Given the description of an element on the screen output the (x, y) to click on. 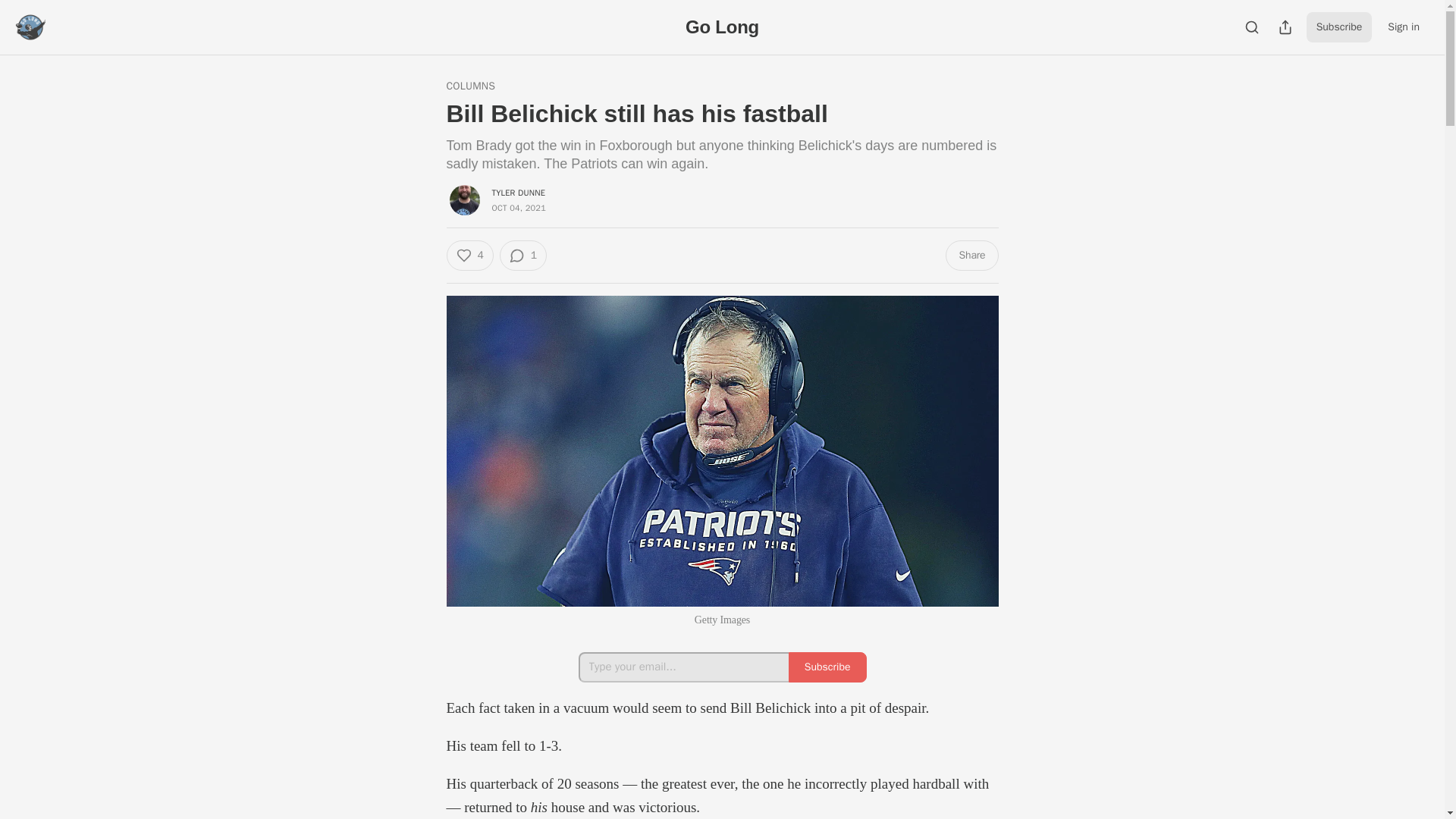
Go Long (721, 26)
4 (469, 255)
Sign in (1403, 27)
Share (970, 255)
Subscribe (827, 666)
COLUMNS (470, 86)
1 (523, 255)
Subscribe (1339, 27)
TYLER DUNNE (518, 192)
